Given the description of an element on the screen output the (x, y) to click on. 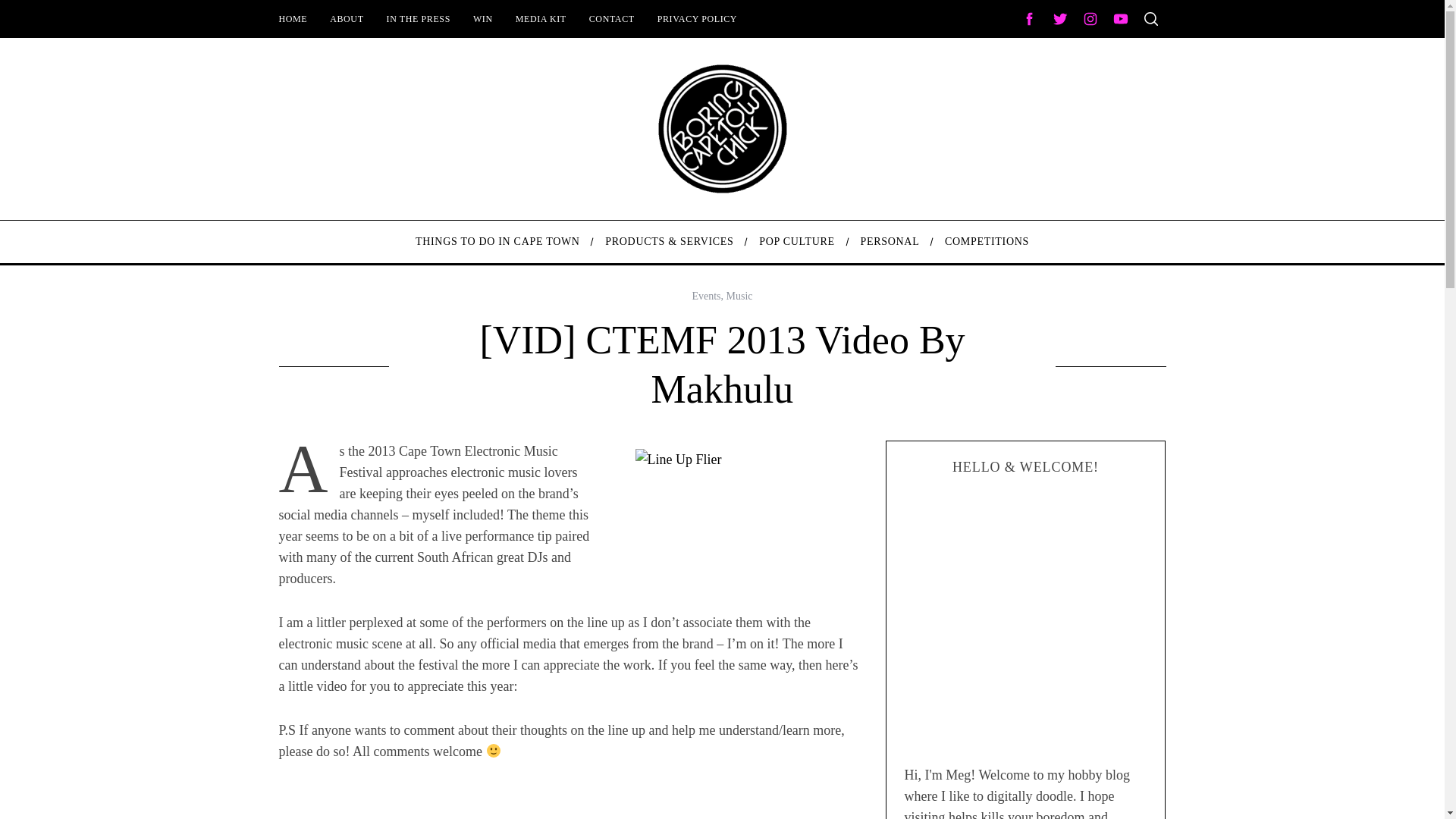
MEDIA KIT (540, 18)
POP CULTURE (796, 241)
WIN (482, 18)
THINGS TO DO IN CAPE TOWN (497, 241)
PRIVACY POLICY (697, 18)
IN THE PRESS (418, 18)
PERSONAL (890, 241)
Boring Cape Town Chick in the Press (418, 18)
Home (292, 18)
HOME (292, 18)
